Given the description of an element on the screen output the (x, y) to click on. 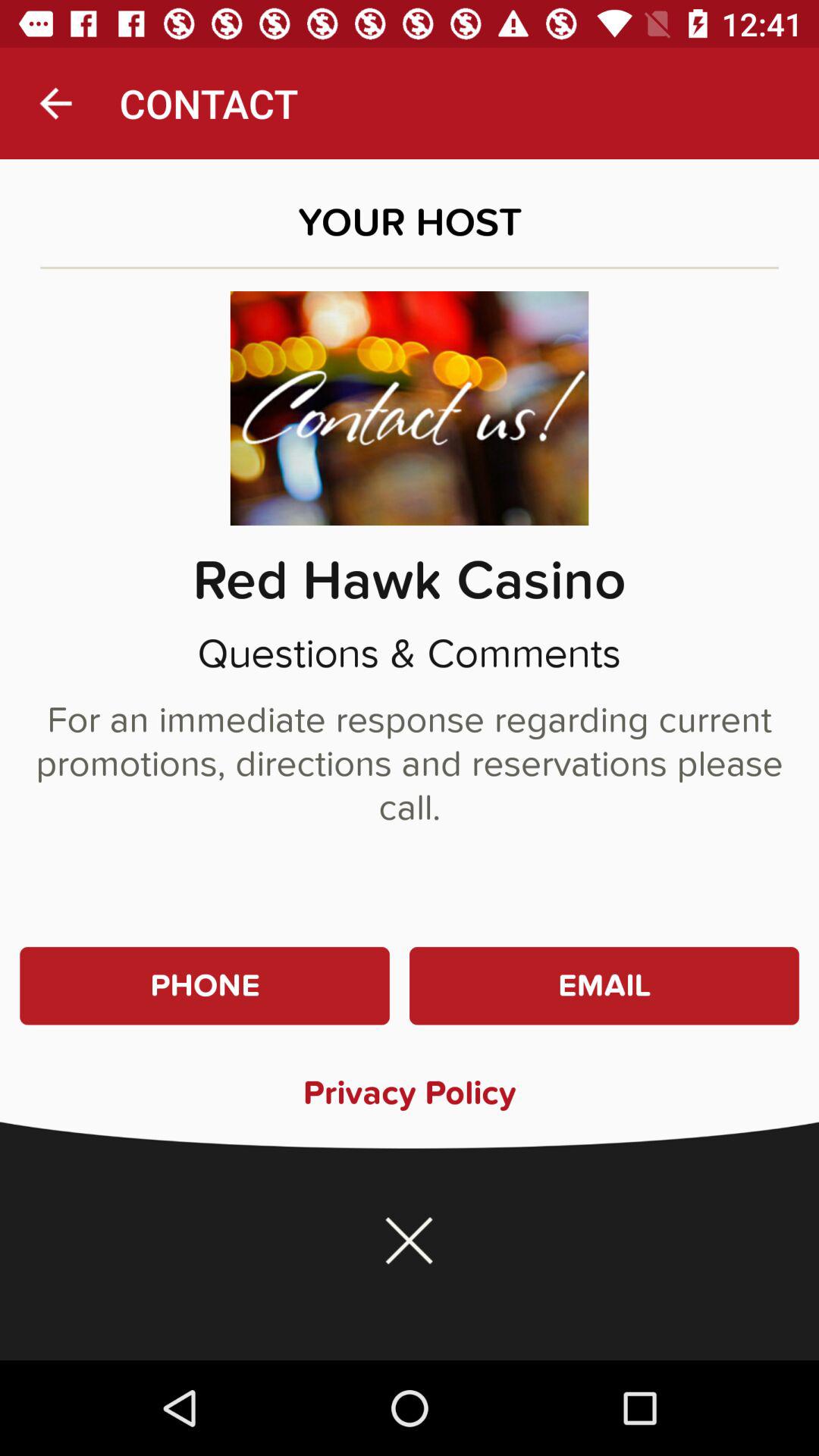
click icon to the left of the contact app (55, 103)
